Given the description of an element on the screen output the (x, y) to click on. 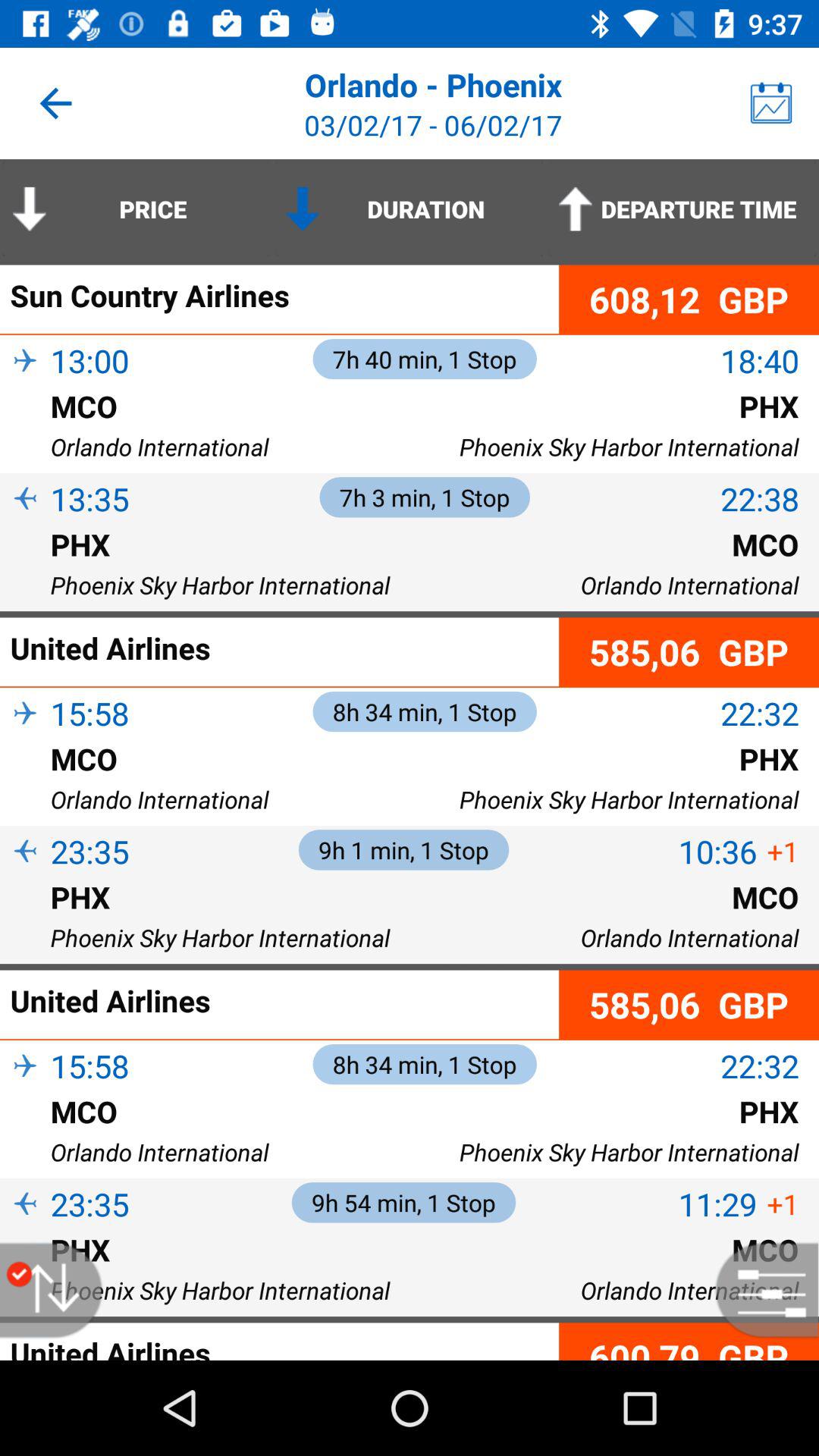
tap item above the orlando international icon (25, 783)
